Given the description of an element on the screen output the (x, y) to click on. 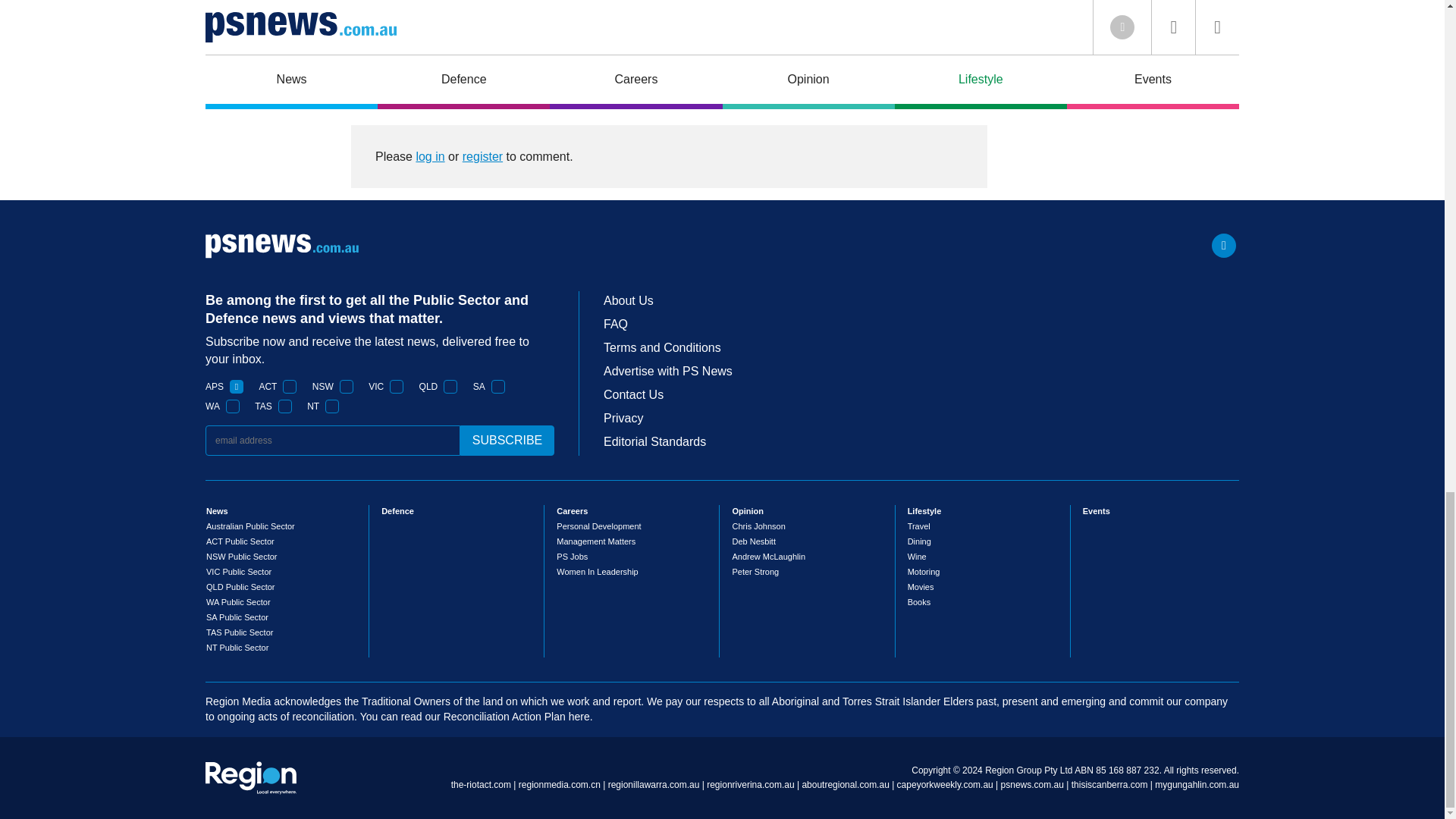
1 (236, 386)
1 (396, 386)
1 (346, 386)
3rd party ad content (668, 23)
1 (331, 406)
LinkedIn (1223, 245)
Region - Local everywhere (251, 778)
3rd party ad content (1124, 54)
1 (450, 386)
1 (232, 406)
